Given the description of an element on the screen output the (x, y) to click on. 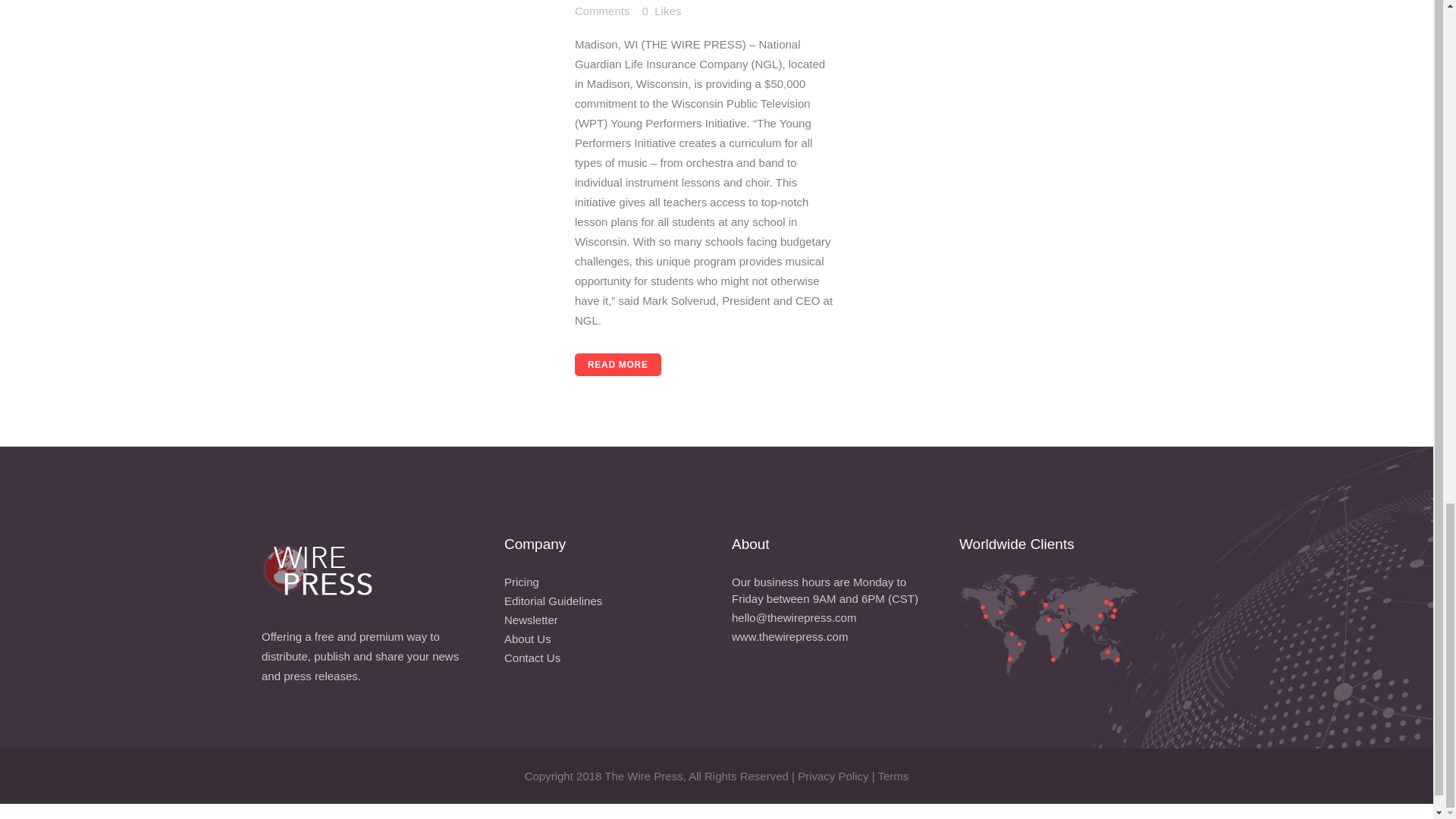
Like this (661, 10)
